Given the description of an element on the screen output the (x, y) to click on. 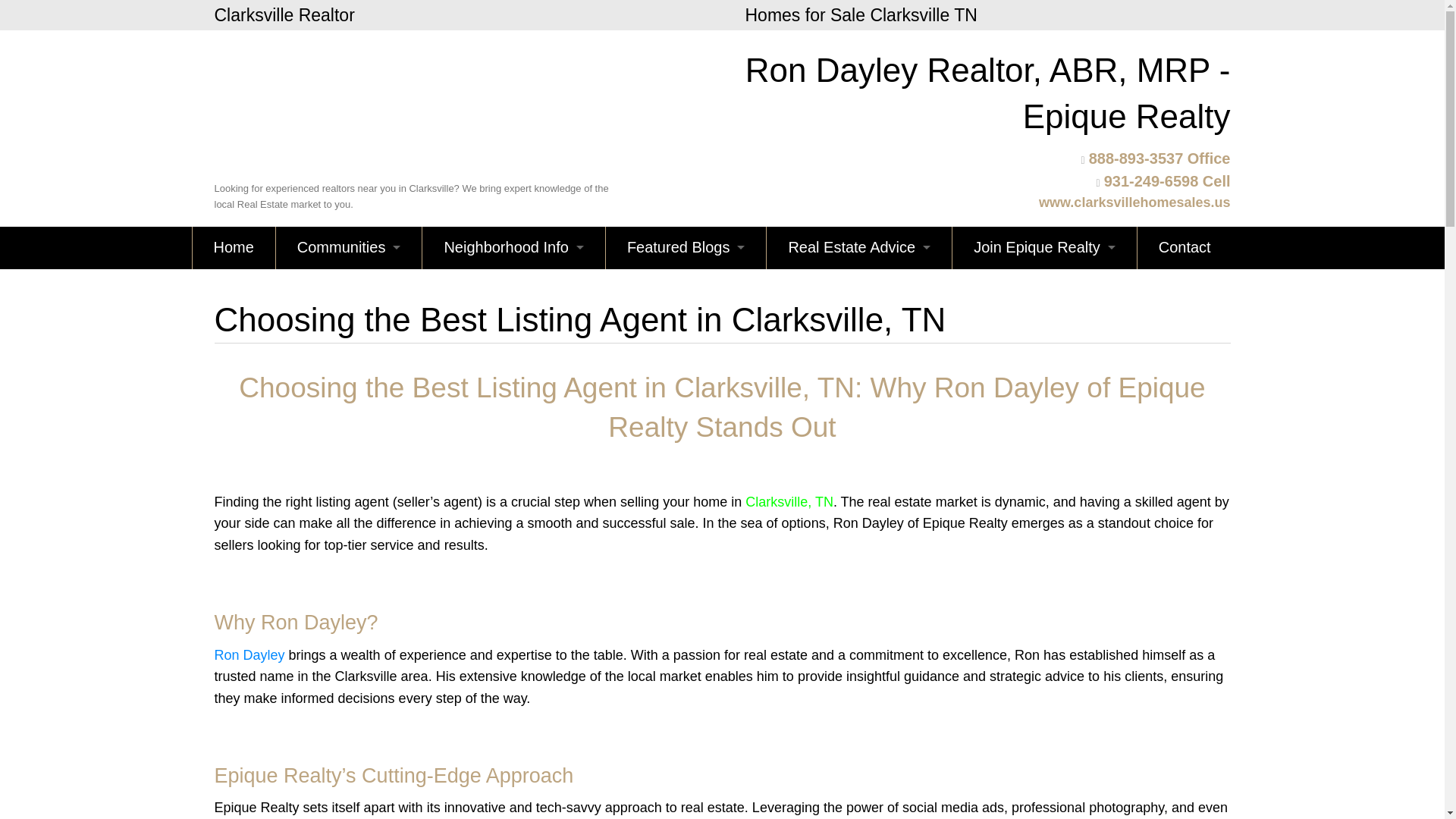
Real Estate Advice (859, 247)
Bellshire (349, 502)
Communities (349, 247)
Autumnwood Farms (349, 417)
Arbour Greene Clarksville TN (349, 332)
Hiring Realtors in Clarksville TN (1044, 247)
Bentley Meadows Clarksville TN (349, 545)
Clarksville TN Realtor - Ron Dayley (412, 106)
www.clarksvillehomesales.us (1134, 201)
Charleston Cove (349, 757)
Cedar Springs (349, 714)
888-893-3537 Office (1159, 158)
Charleston Oaks (349, 798)
Anderson Place (349, 290)
Camelot Hills subdivision (349, 630)
